Given the description of an element on the screen output the (x, y) to click on. 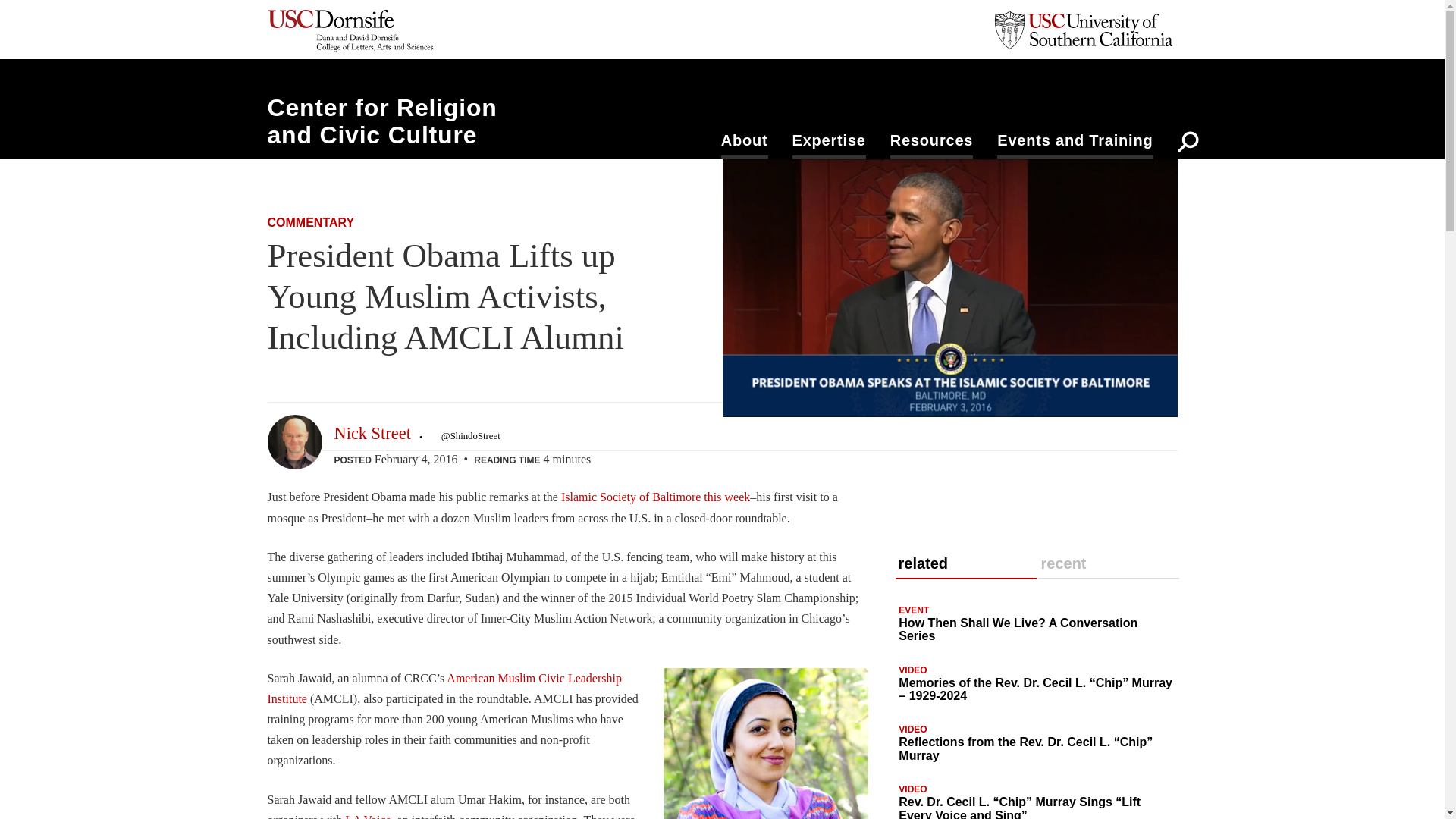
Events and Training (1075, 145)
USC Dornsife College Of Letters Arts and Sciences (349, 30)
About (744, 145)
Expertise (829, 145)
Center for Religion and Civic Culture (381, 121)
Islamic Society of Baltimore this week (654, 496)
Nick Street (371, 433)
University of Southern California (1081, 28)
Resources (930, 145)
